Given the description of an element on the screen output the (x, y) to click on. 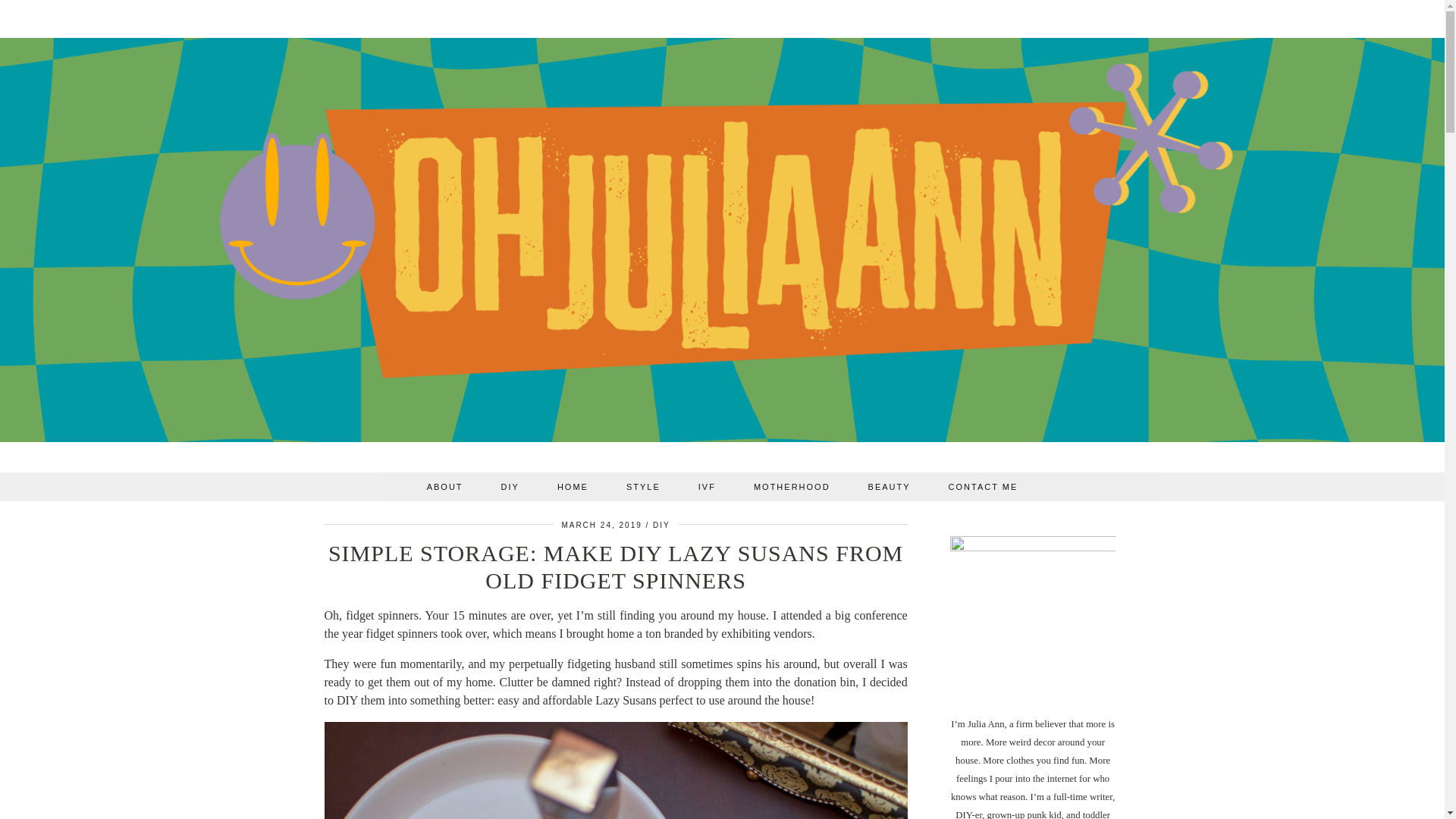
STYLE (643, 486)
BEAUTY (889, 486)
ABOUT (444, 486)
DIY (660, 524)
CONTACT ME (983, 486)
DIY (509, 486)
IVF (707, 486)
HOME (572, 486)
MOTHERHOOD (791, 486)
